Given the description of an element on the screen output the (x, y) to click on. 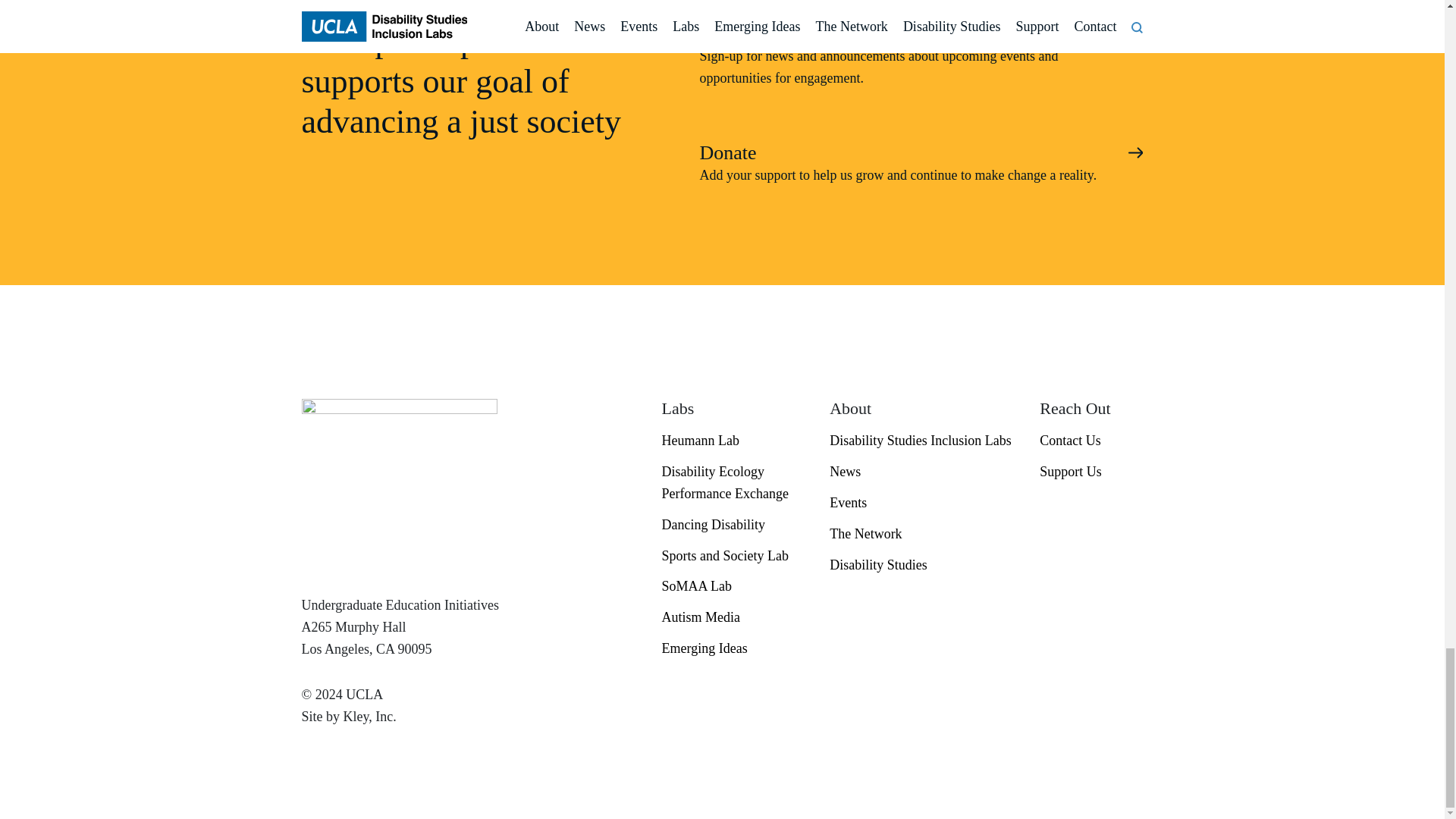
Disability Studies Inclusion Labs (922, 440)
Dancing Disability (733, 524)
Kley, Inc. (369, 716)
Emerging Ideas (733, 648)
Disability Studies (922, 564)
Autism Media (733, 617)
Instagram (1046, 512)
Contact Us (1090, 440)
SoMAA Lab (733, 586)
Sports and Society Lab (733, 555)
Disability Ecology Performance Exchange (733, 482)
News (922, 471)
The Network (922, 533)
